Given the description of an element on the screen output the (x, y) to click on. 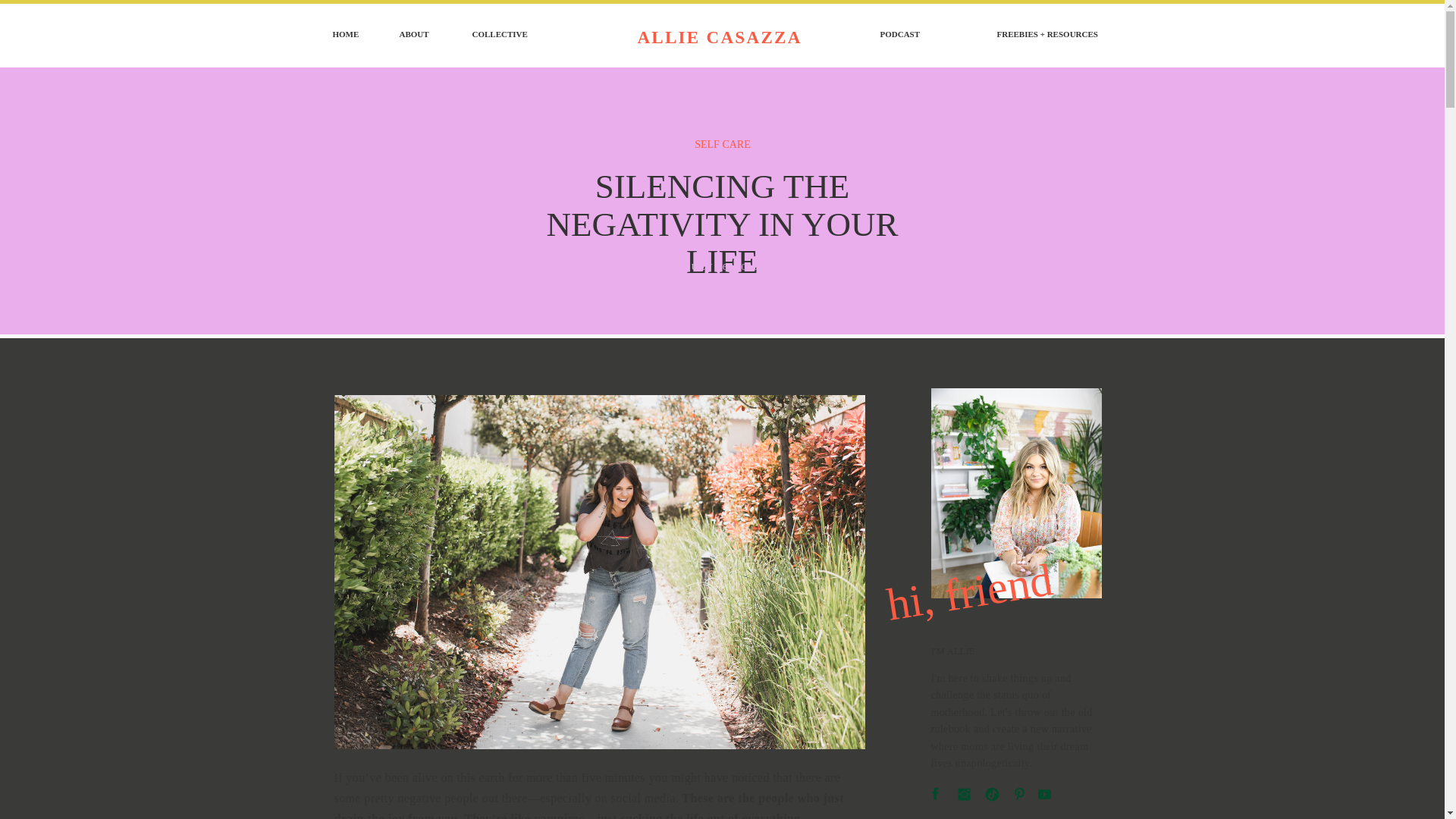
HOME (347, 36)
ALLIE CASAZZA (718, 36)
SELF CARE (722, 143)
PODCAST (906, 36)
COLLECTIVE (505, 36)
ABOUT (418, 36)
